Given the description of an element on the screen output the (x, y) to click on. 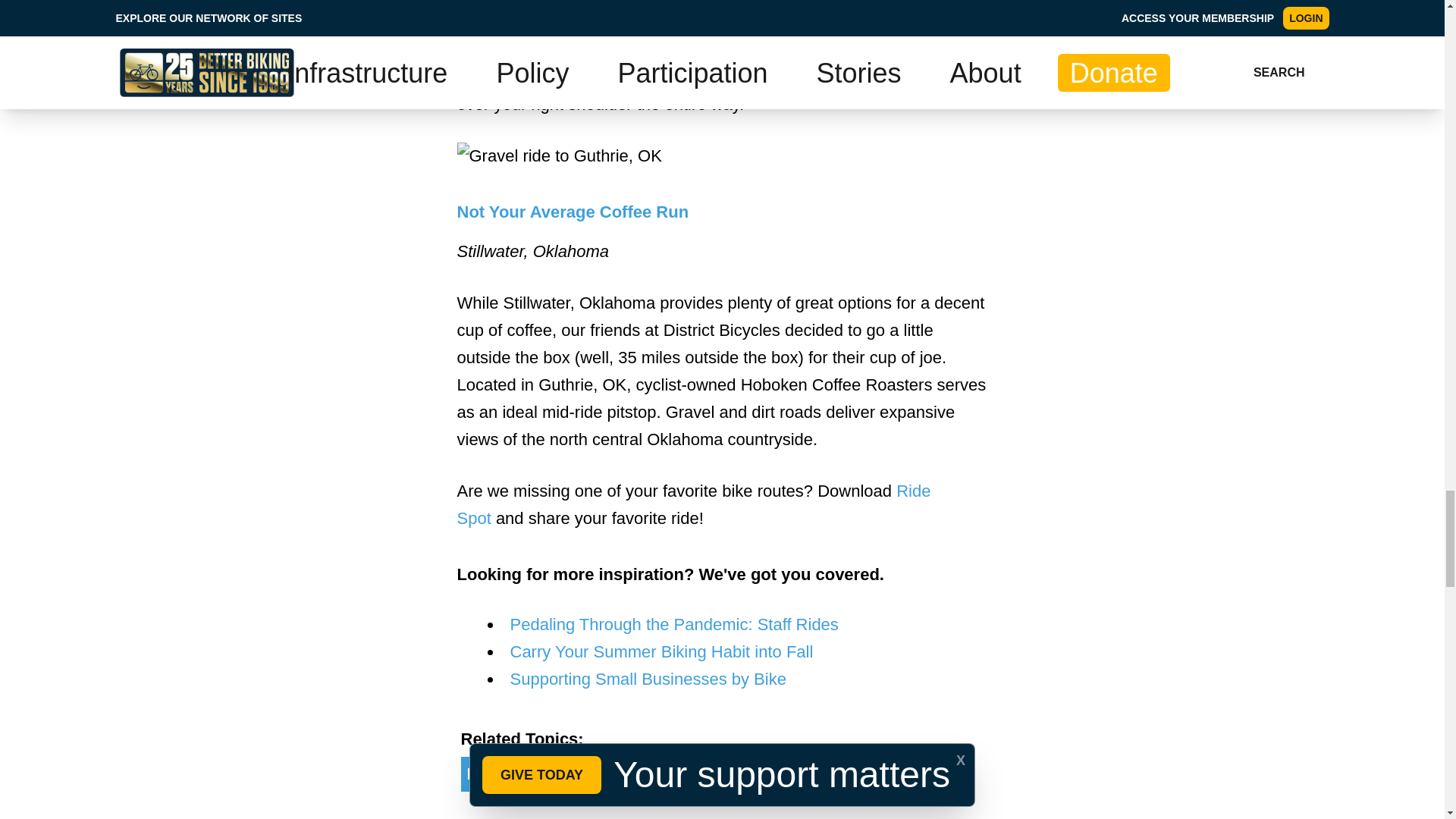
Not Your Average Coffee Run (572, 210)
Pedaling Through the Pandemic: Staff Rides (673, 624)
Bike Rides (839, 773)
Supporting Small Businesses by Bike (647, 678)
City Riding (732, 773)
Carry Your Summer Biking Habit into Fall (660, 651)
Ride Spot (693, 504)
Recreational Bike Access (568, 773)
